Given the description of an element on the screen output the (x, y) to click on. 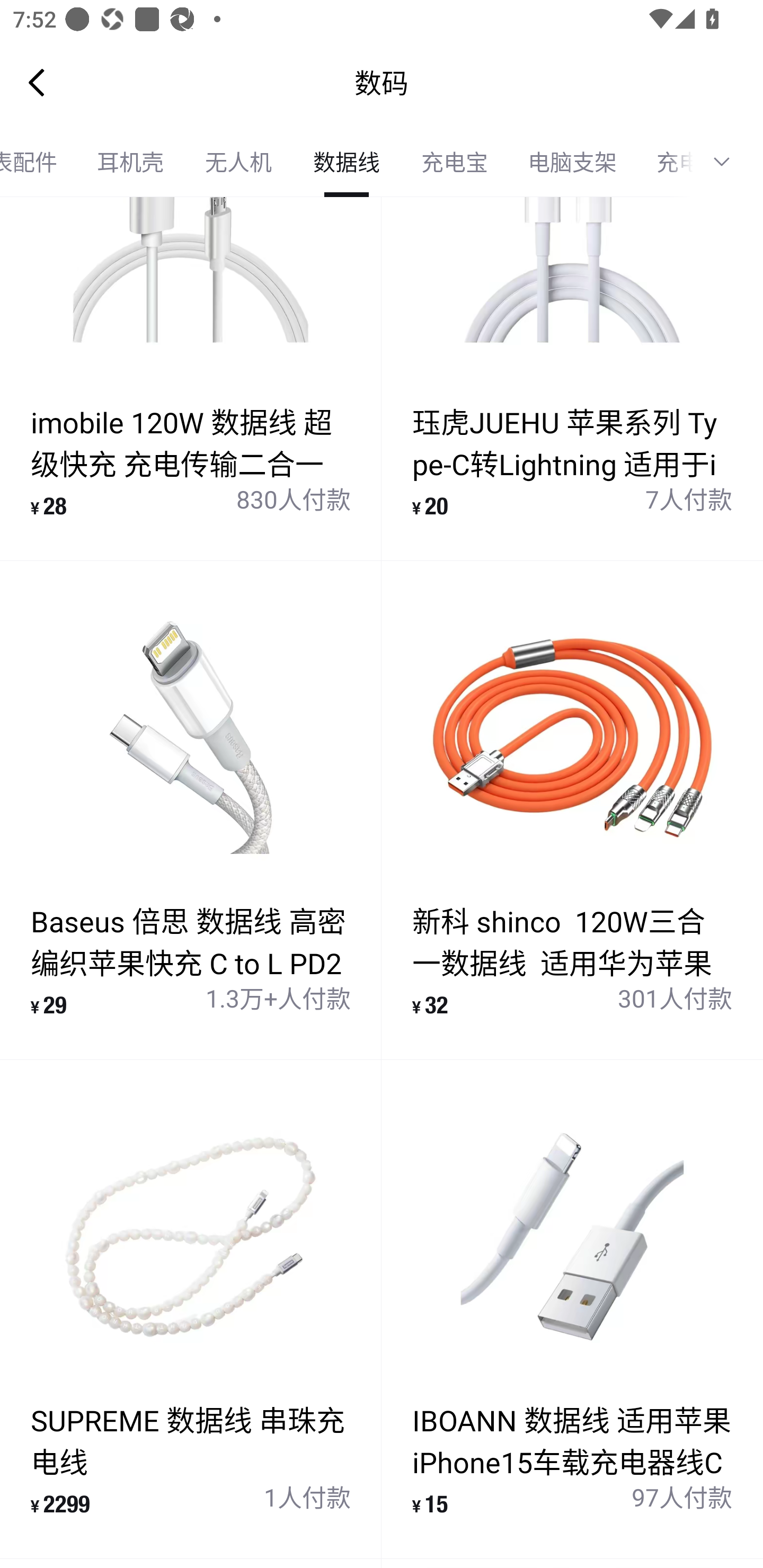
Navigate up (36, 82)
耳机壳 (130, 162)
无人机 (238, 162)
数据线 (346, 162)
充电宝 (454, 162)
电脑支架 (571, 162)
 (727, 162)
SUPREME 数据线 串珠充
电线 ¥ 2299 1人付款 (190, 1308)
